Given the description of an element on the screen output the (x, y) to click on. 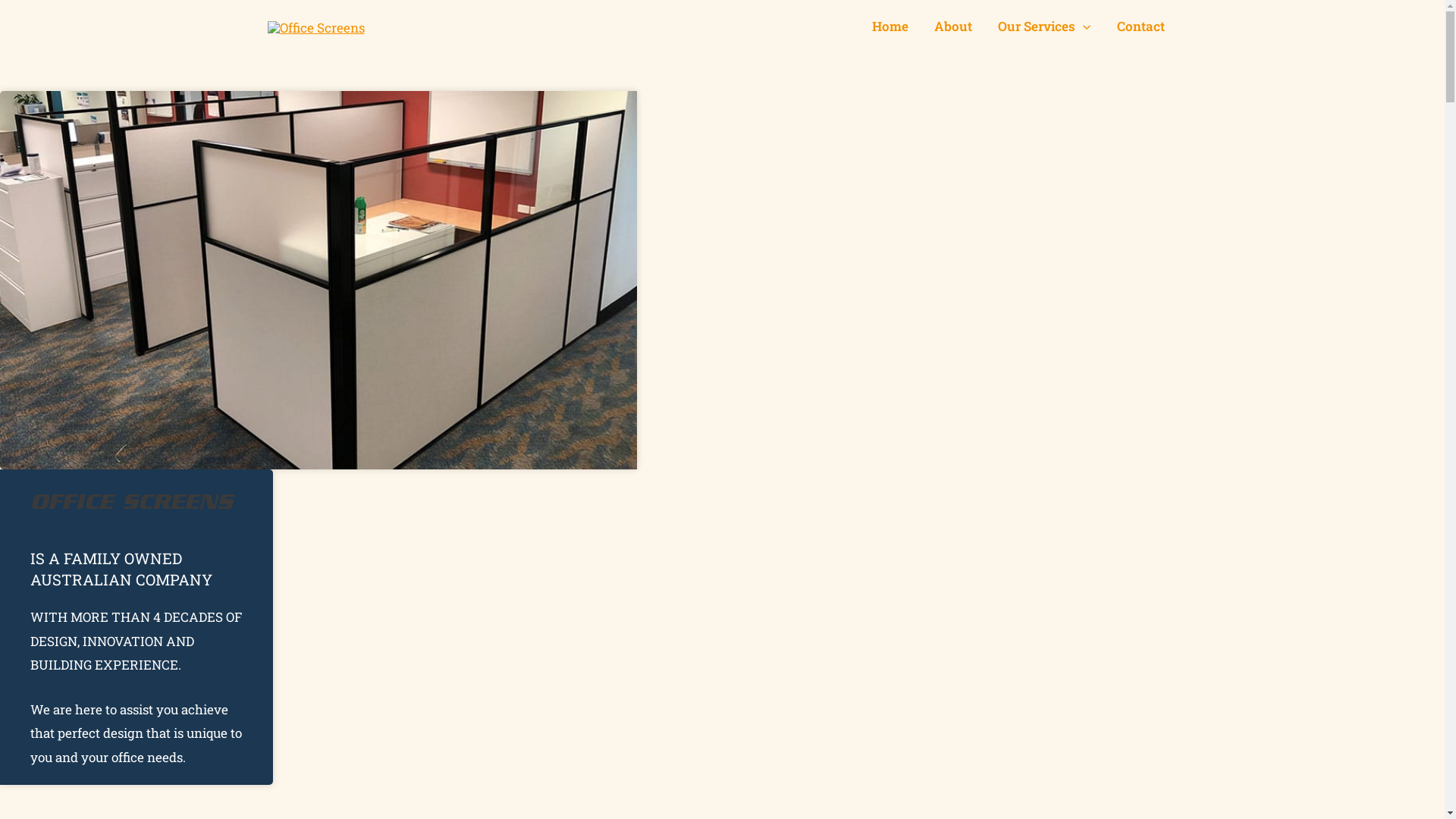
Our Services Element type: text (1044, 26)
Home Element type: text (890, 26)
About Element type: text (953, 26)
Contact Element type: text (1140, 26)
